Given the description of an element on the screen output the (x, y) to click on. 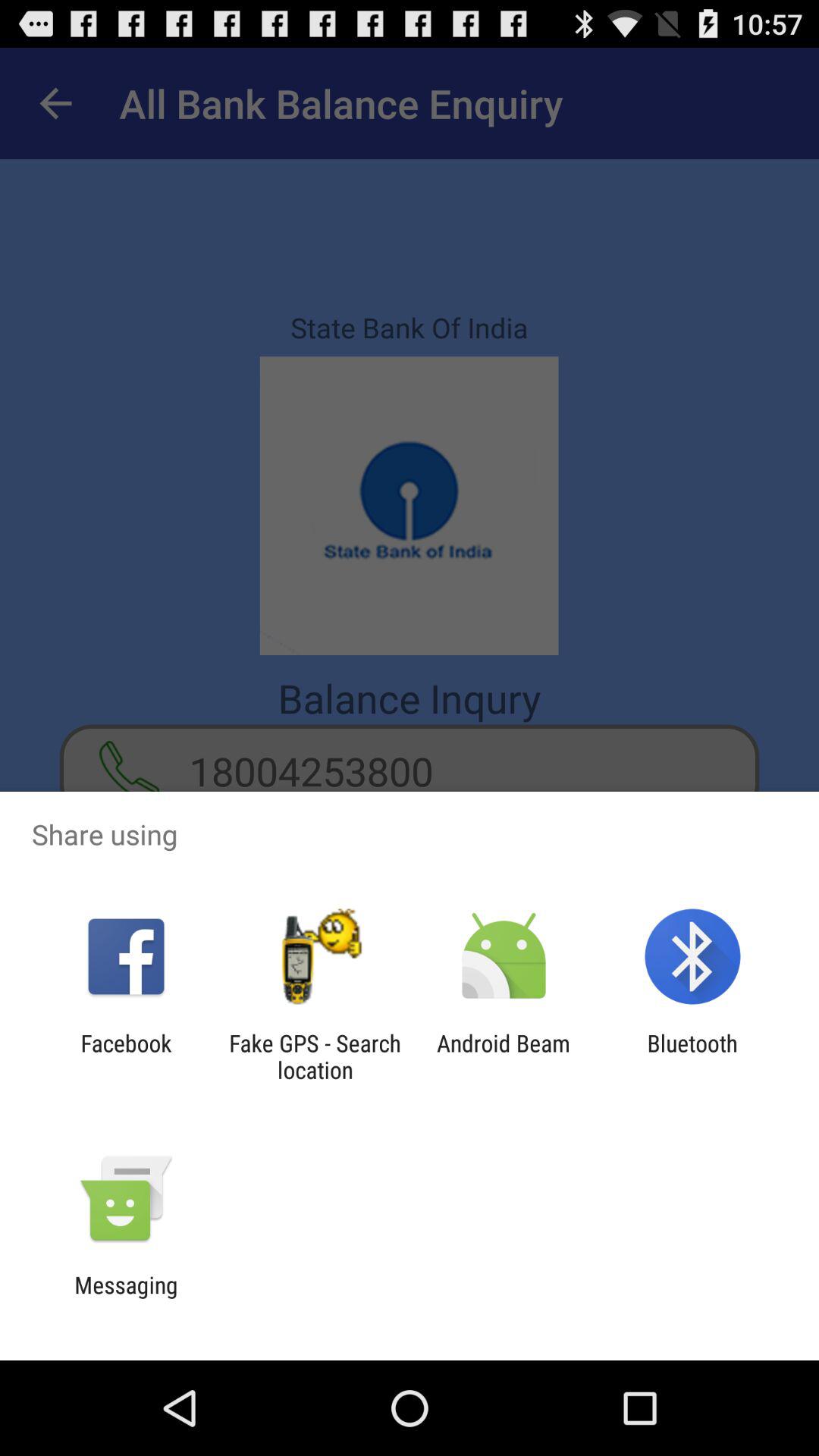
jump to the bluetooth icon (692, 1056)
